Given the description of an element on the screen output the (x, y) to click on. 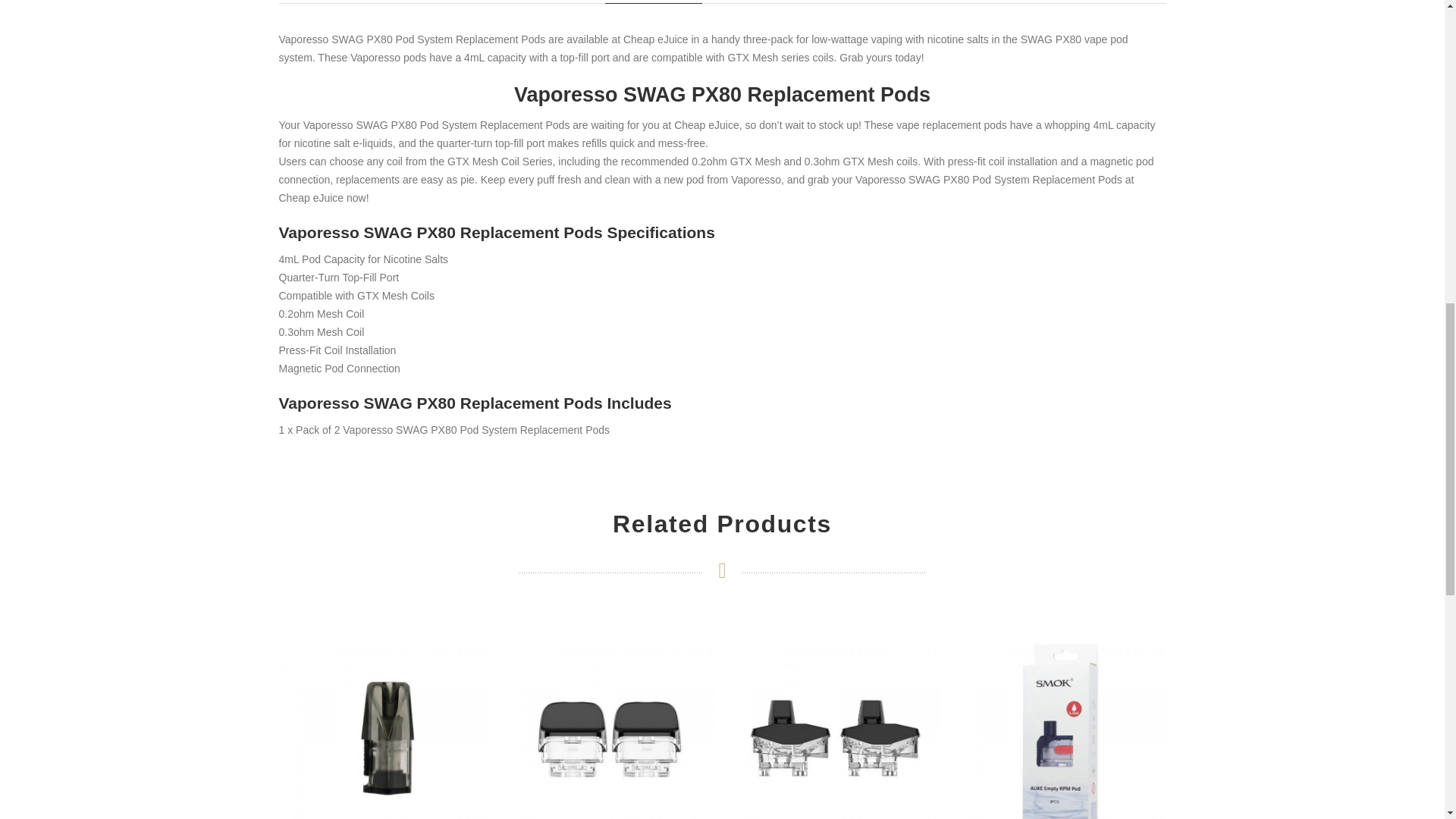
Vaporesso LUXE PM40 Pods (608, 714)
Vaporesso XIRON Pods (834, 714)
Vaporesso Barr Pods (384, 714)
